Given the description of an element on the screen output the (x, y) to click on. 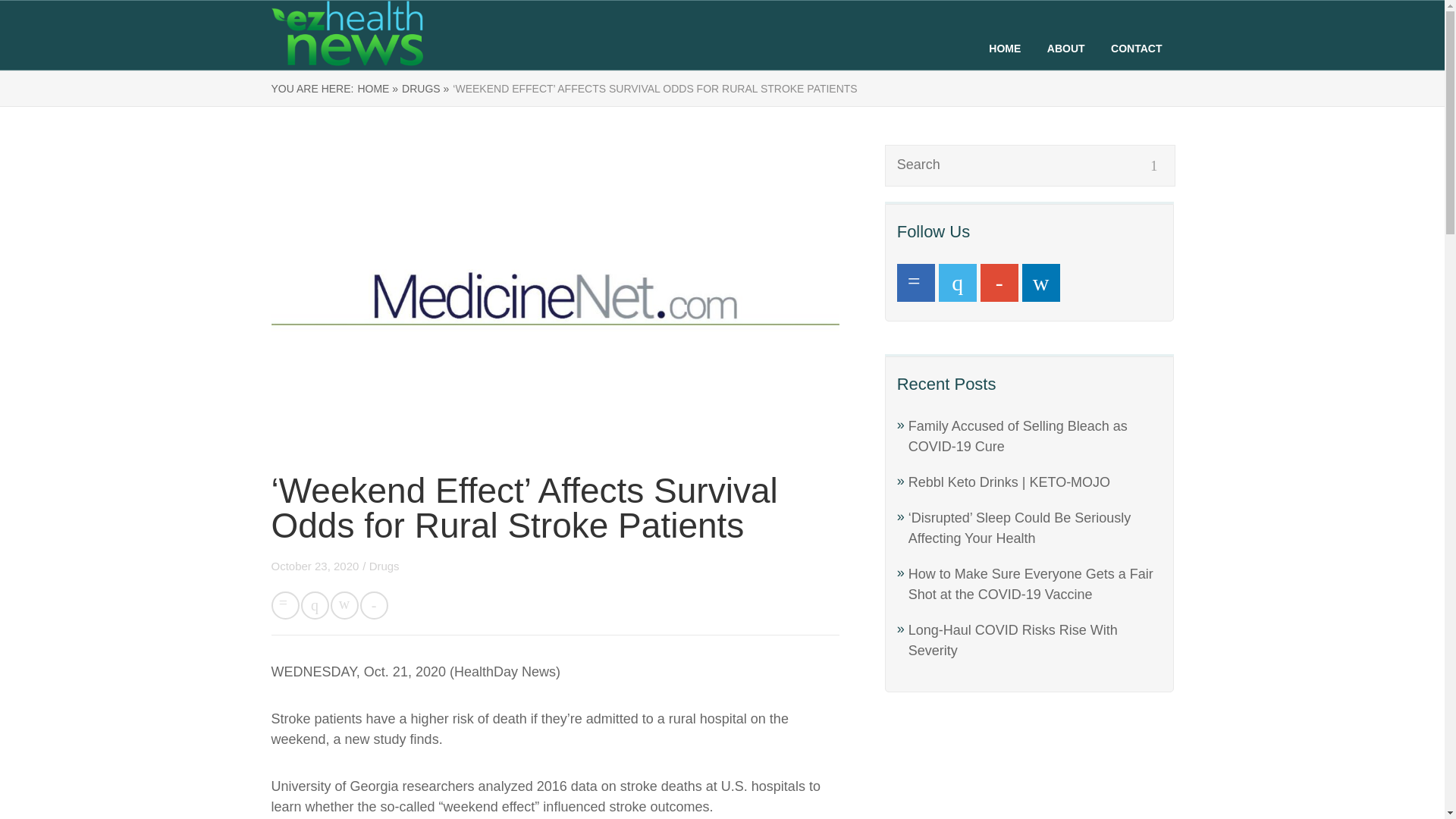
HOME (1004, 48)
Family Accused of Selling Bleach as COVID-19 Cure (1017, 436)
Drugs (383, 565)
CONTACT (1135, 48)
ABOUT (1065, 48)
Long-Haul COVID Risks Rise With Severity (1013, 640)
